Given the description of an element on the screen output the (x, y) to click on. 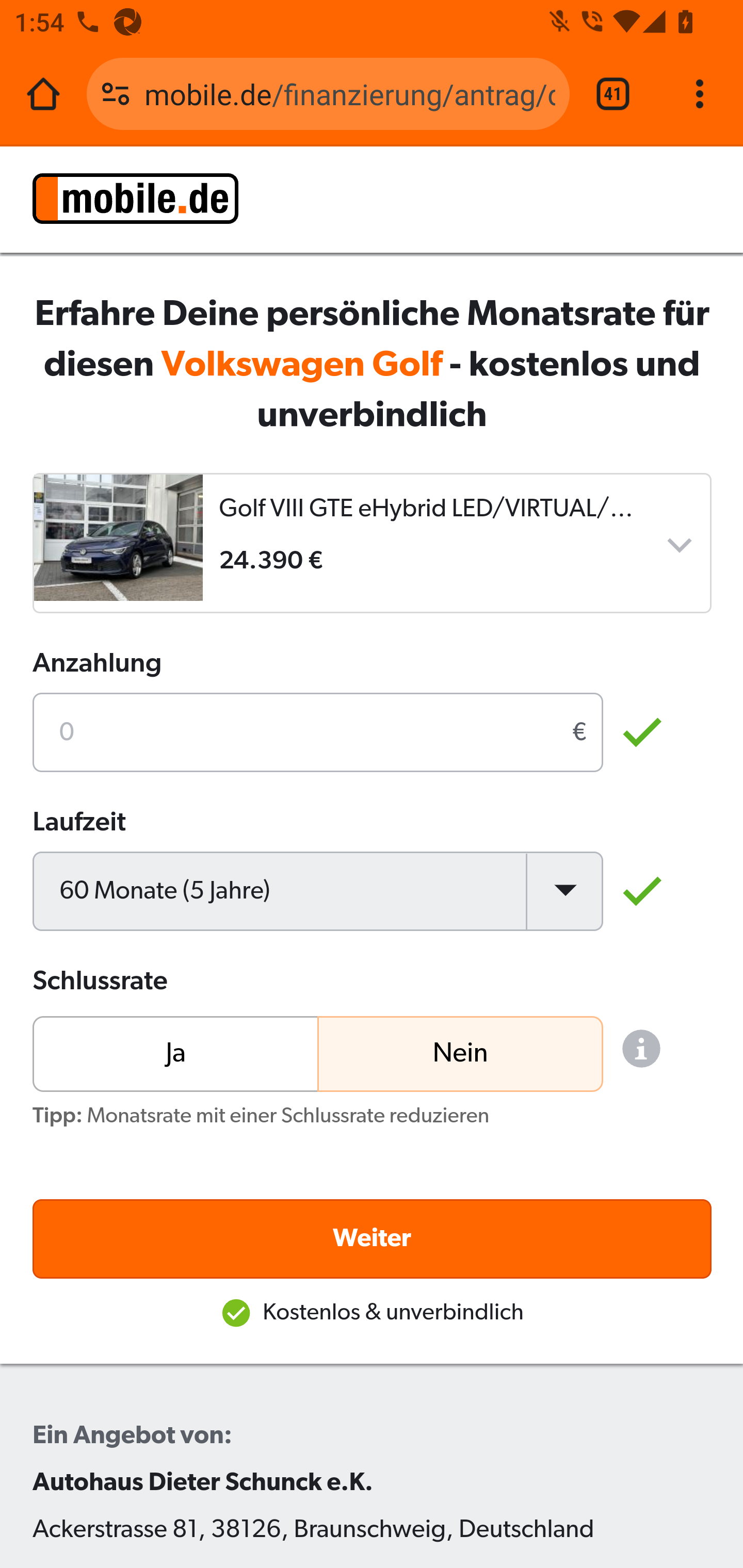
Open the home page (43, 93)
Connection is secure (115, 93)
Switch or close tabs (612, 93)
Customize and control Google Chrome (699, 93)
60 Monate (5 Jahre) (317, 890)
Ja (175, 1052)
Nein (459, 1052)
Weiter (372, 1238)
